Given the description of an element on the screen output the (x, y) to click on. 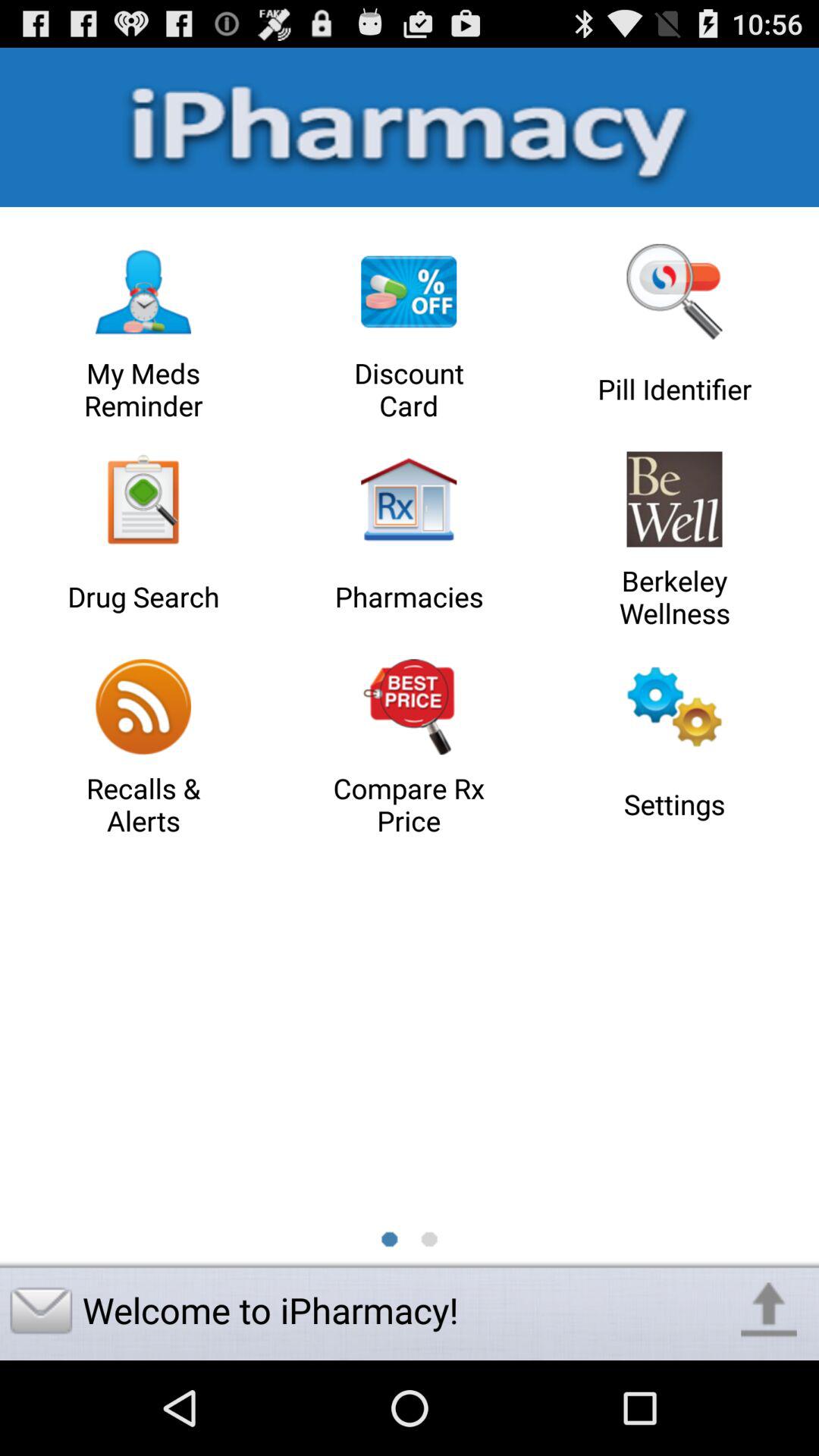
page up (768, 1310)
